Given the description of an element on the screen output the (x, y) to click on. 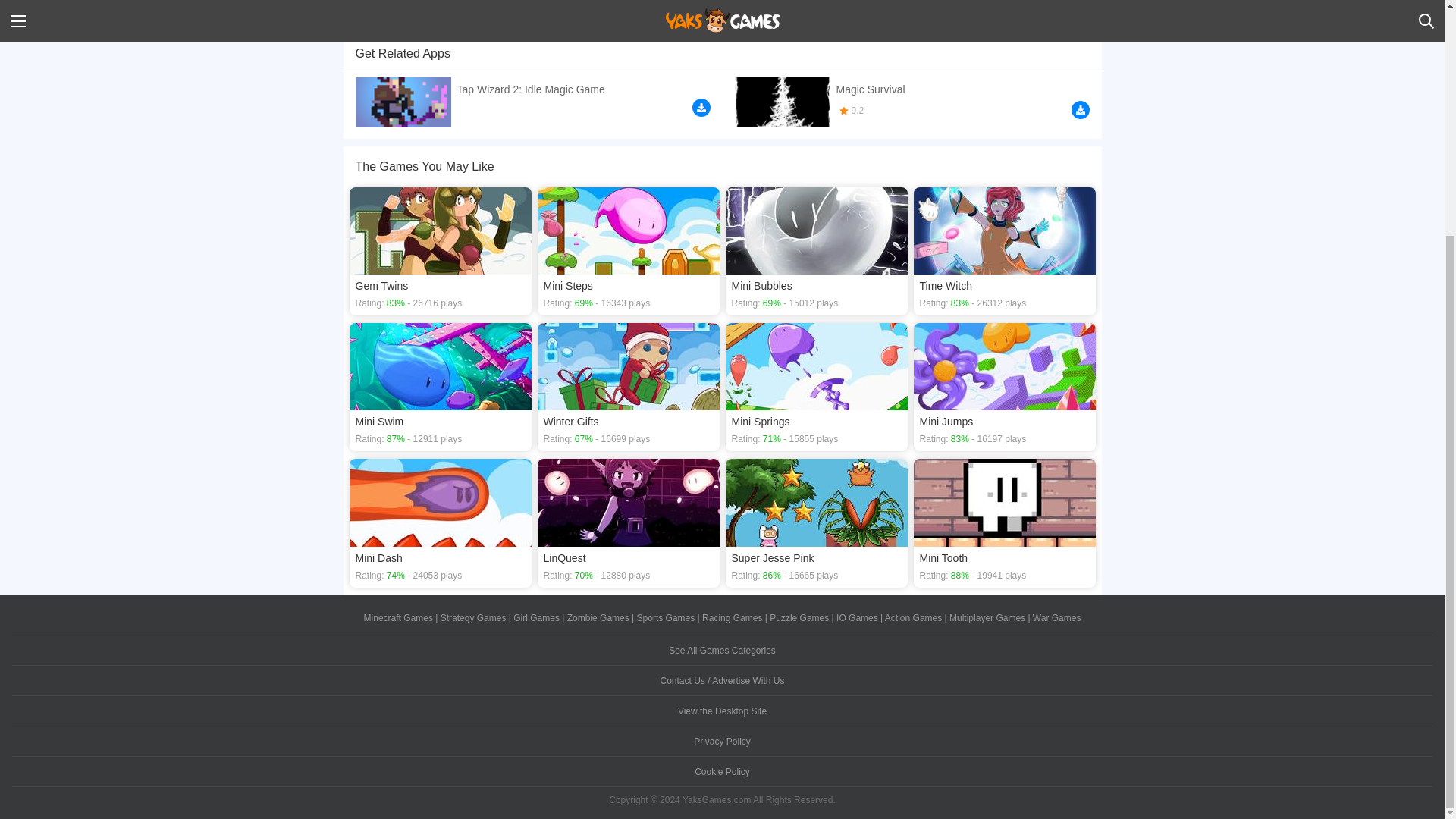
Magic Survival (911, 101)
Mini Tooth (1003, 522)
Tap Wizard 2: Idle Magic Game (532, 99)
LinQuest (628, 522)
Super Jesse Pink (816, 522)
Mini Springs (816, 386)
Winter Gifts (628, 386)
Time Witch (1003, 251)
Mini Steps (628, 251)
Mini Bubbles (816, 251)
Gem Twins (440, 251)
Mini Jumps (1003, 386)
Mini Dash (440, 522)
Mini Swim (440, 386)
